Given the description of an element on the screen output the (x, y) to click on. 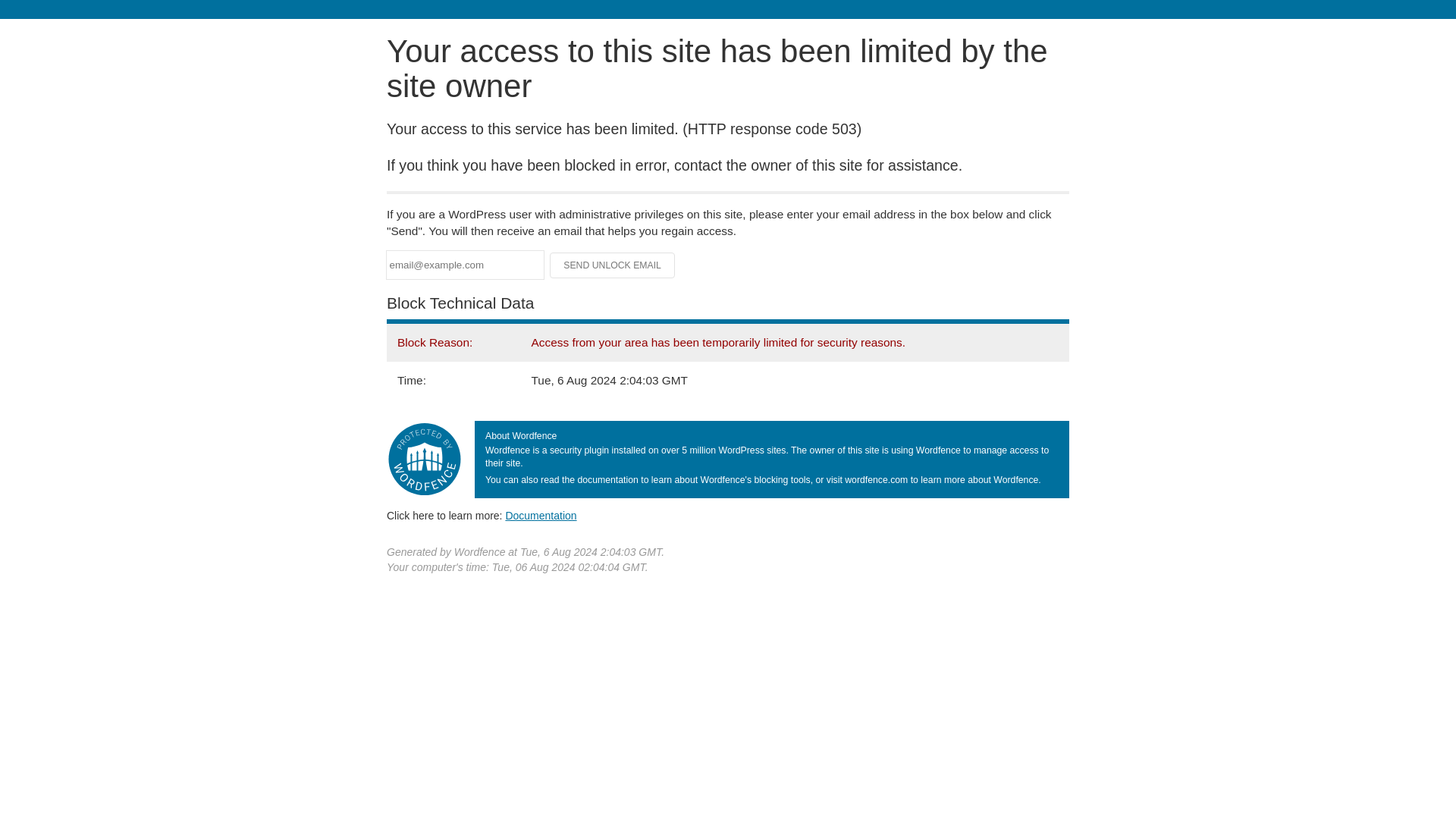
Send Unlock Email (612, 265)
Documentation (540, 515)
Send Unlock Email (612, 265)
